Given the description of an element on the screen output the (x, y) to click on. 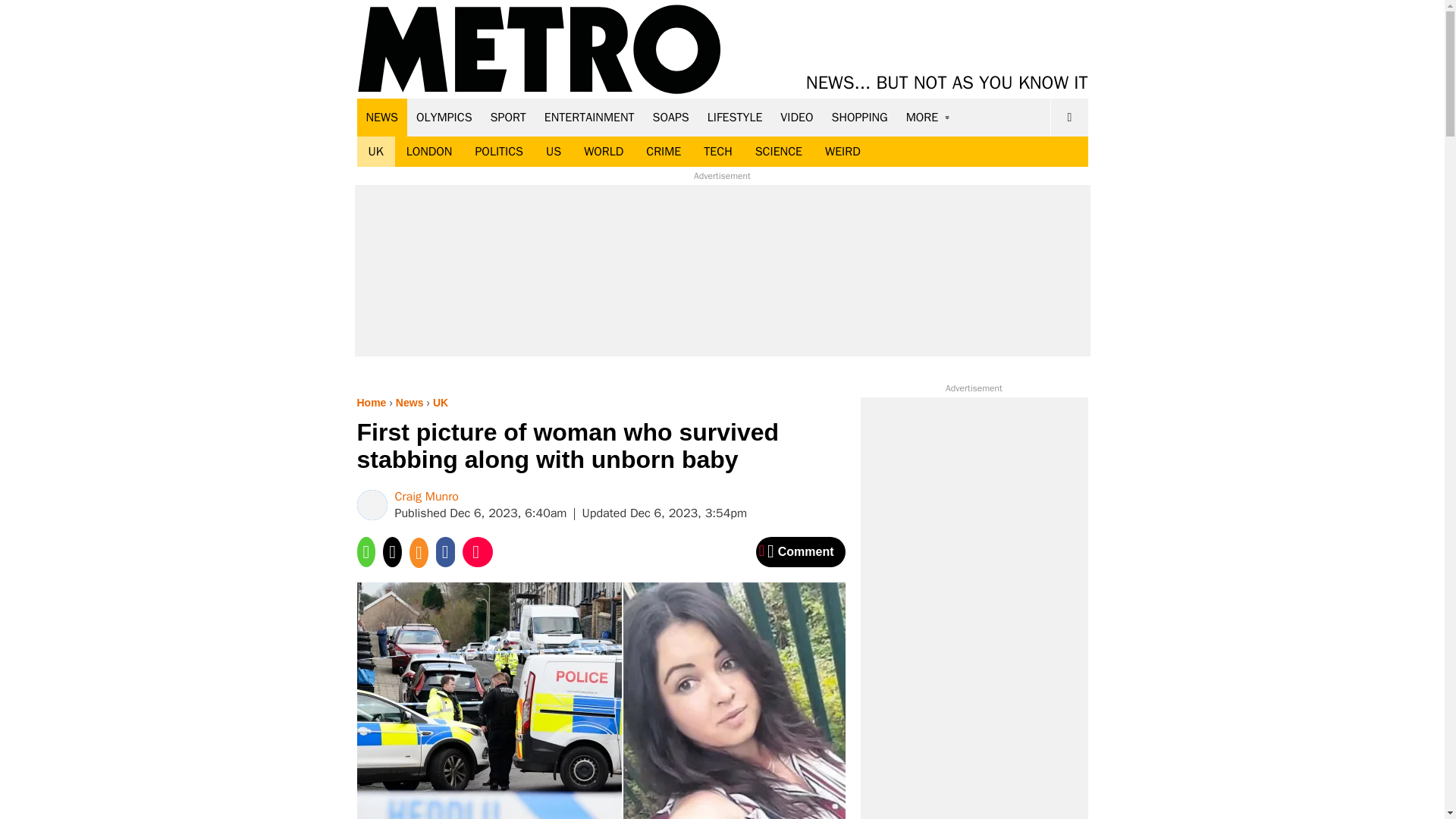
POLITICS (498, 151)
NEWS (381, 117)
SOAPS (670, 117)
LONDON (429, 151)
UK (375, 151)
SCIENCE (778, 151)
WORLD (603, 151)
LIFESTYLE (734, 117)
WEIRD (842, 151)
TECH (717, 151)
